Given the description of an element on the screen output the (x, y) to click on. 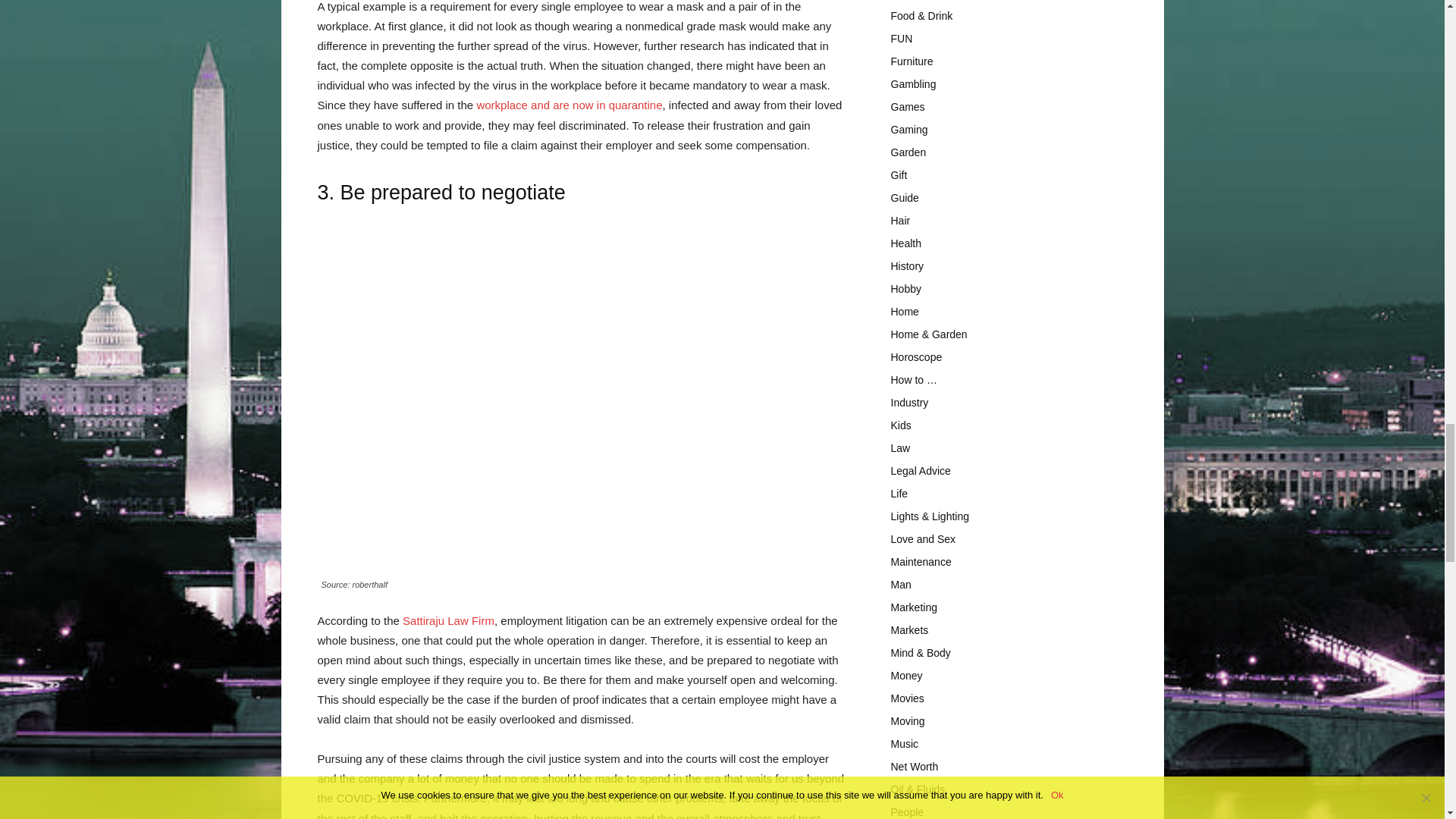
workplace and are now in quarantine (569, 104)
Sattiraju Law Firm (449, 620)
